Given the description of an element on the screen output the (x, y) to click on. 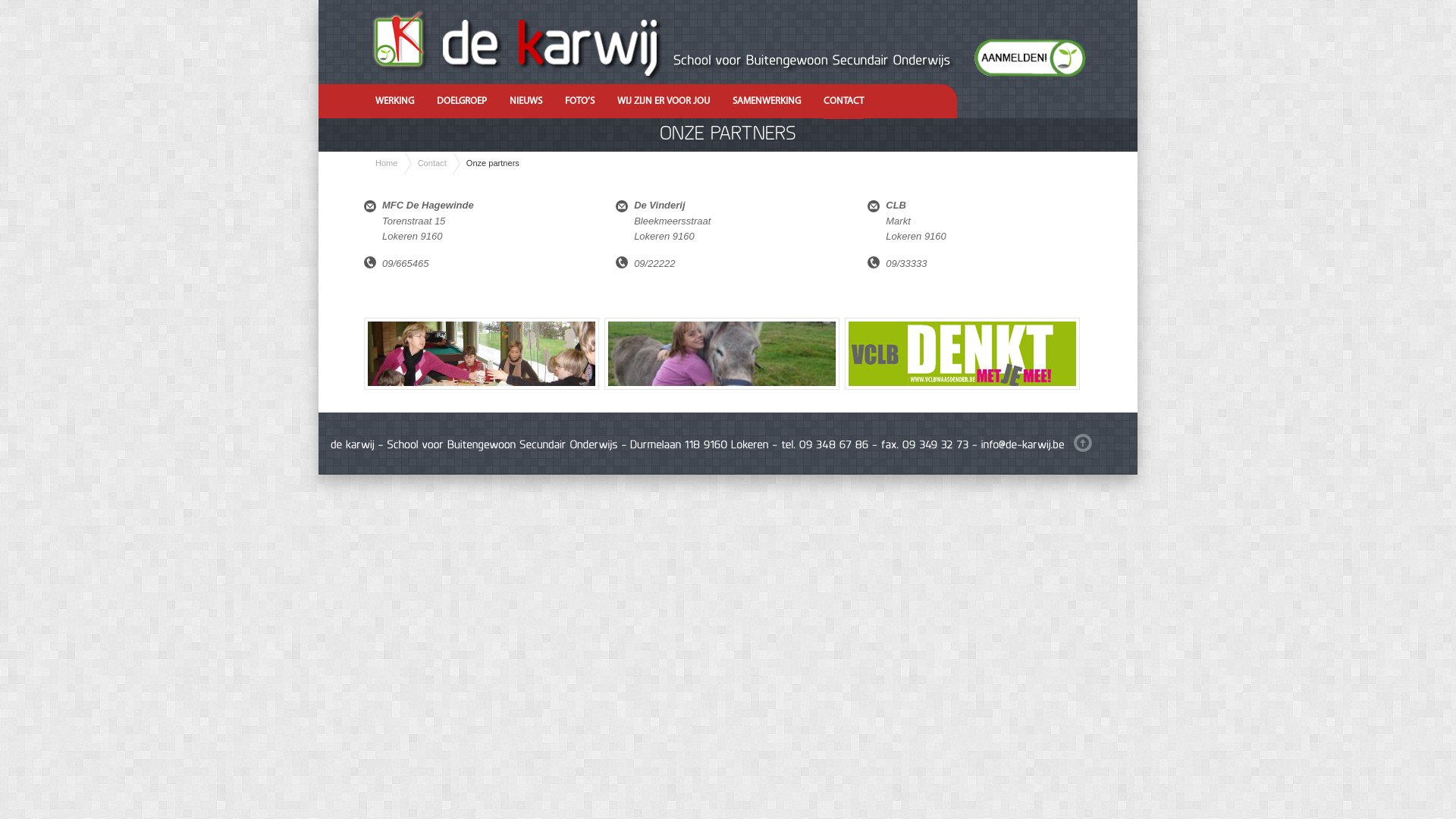
Home Element type: text (380, 162)
de karwij | Lokeren Element type: hover (750, 42)
Skip to content Element type: text (318, 85)
CONTACT Element type: text (843, 101)
WERKING Element type: text (394, 101)
SAMENWERKING Element type: text (766, 101)
NIEUWS Element type: text (525, 101)
Contact Element type: text (431, 162)
WIJ ZIJN ER VOOR JOU Element type: text (663, 101)
Top Element type: text (1082, 442)
DOELGROEP Element type: text (461, 101)
de karwij Element type: text (750, 39)
